Given the description of an element on the screen output the (x, y) to click on. 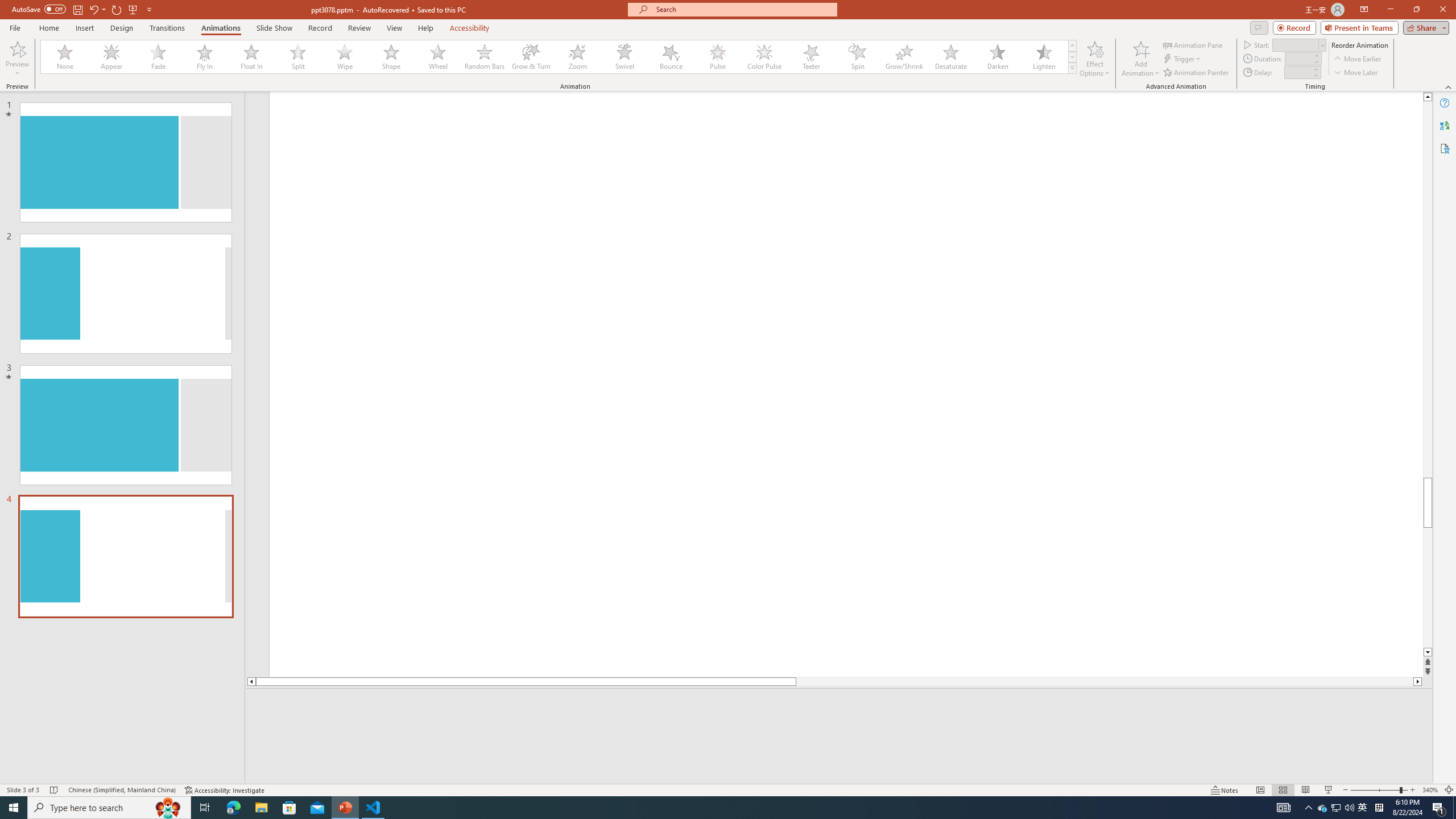
None (65, 56)
Grow & Turn (531, 56)
